Given the description of an element on the screen output the (x, y) to click on. 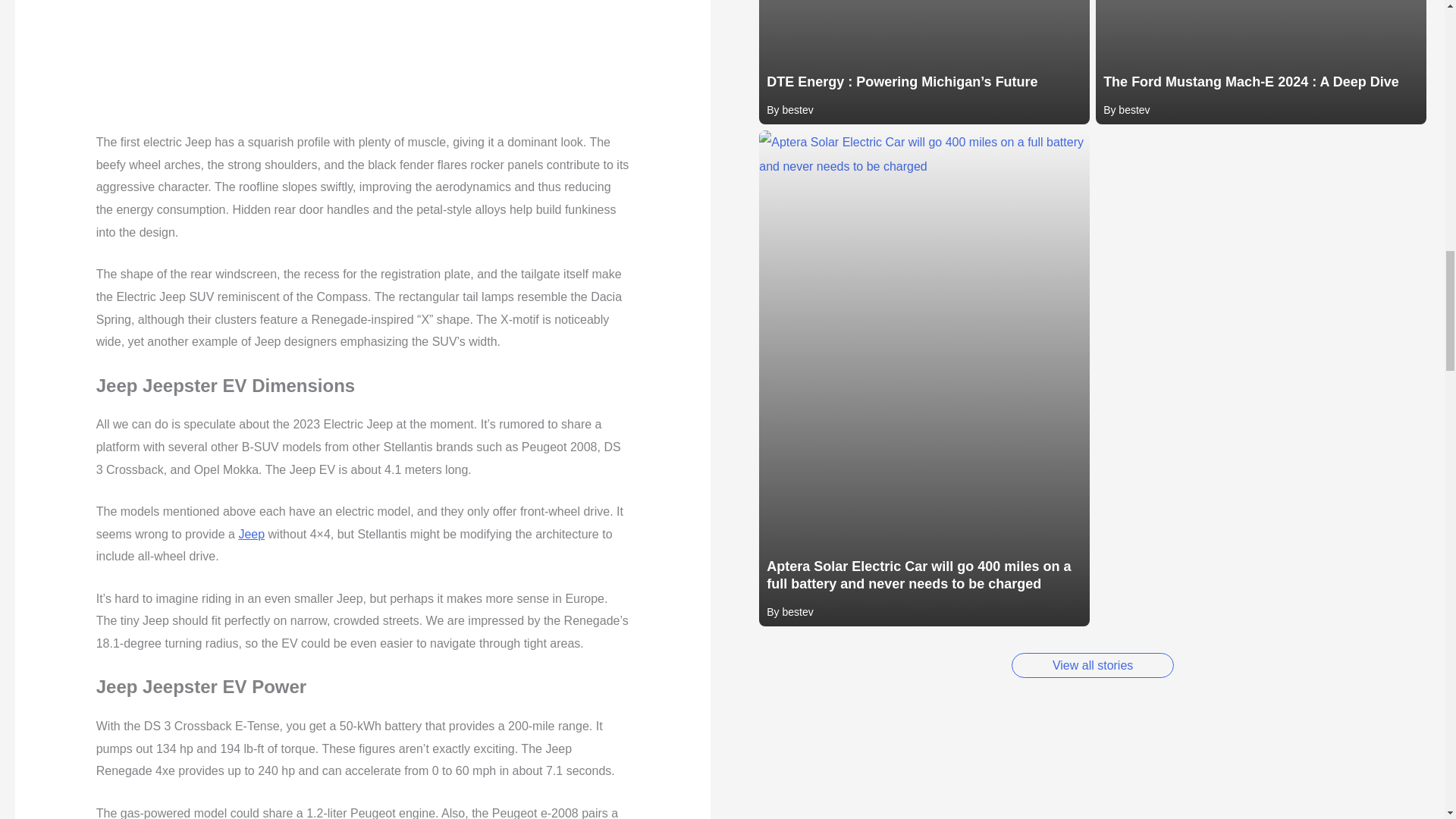
Jeep (251, 533)
